Given the description of an element on the screen output the (x, y) to click on. 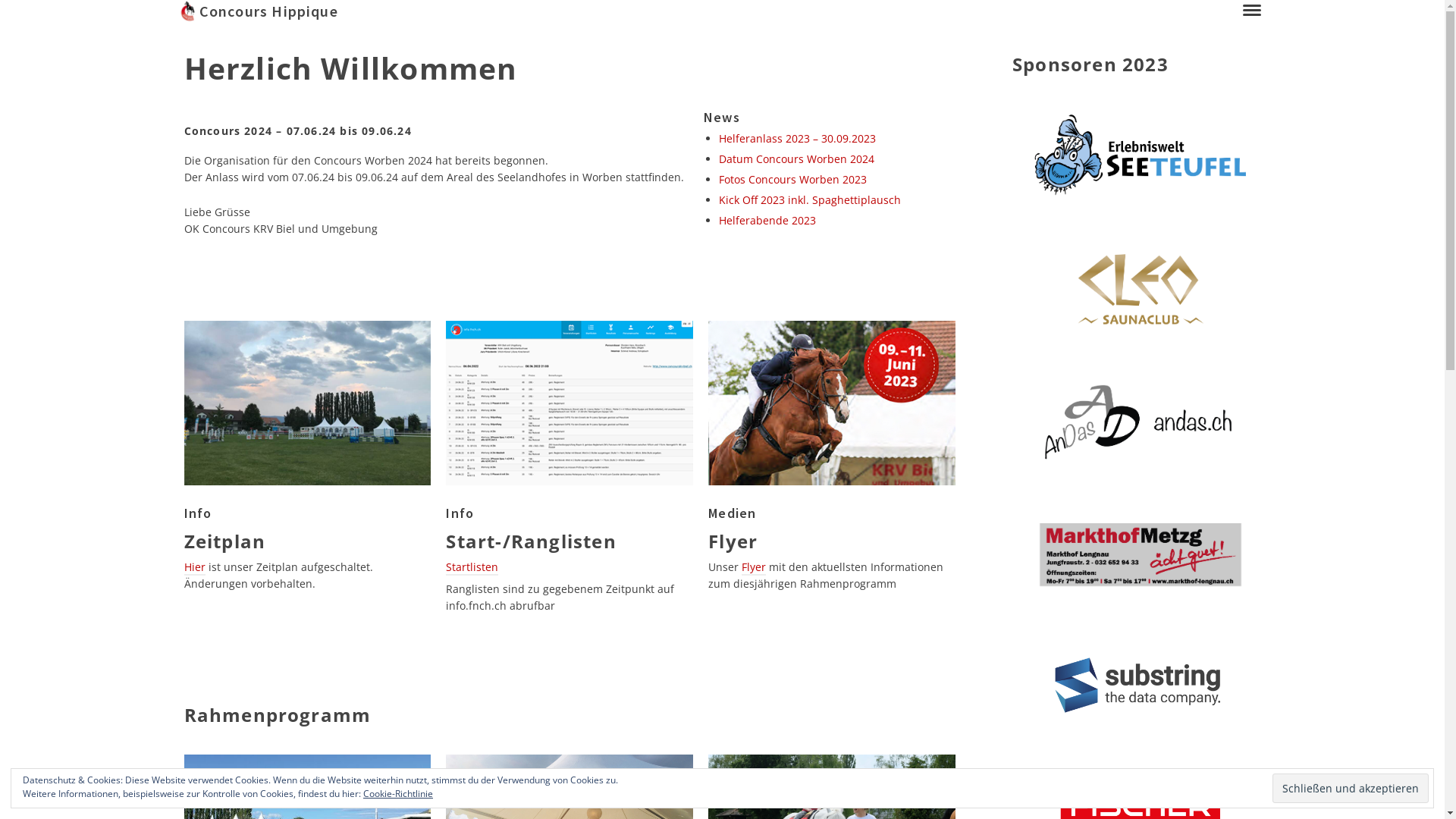
Fotos Concours Worben 2023 Element type: text (792, 179)
Datum Concours Worben 2024 Element type: text (796, 158)
Startlisten Element type: text (471, 567)
Hier Element type: text (193, 567)
Helferabende 2023 Element type: text (766, 220)
Flyer Element type: text (753, 567)
Kick Off 2023 inkl. Spaghettiplausch Element type: text (809, 199)
Cookie-Richtlinie Element type: text (398, 793)
Concours Hippique Element type: text (704, 11)
